Given the description of an element on the screen output the (x, y) to click on. 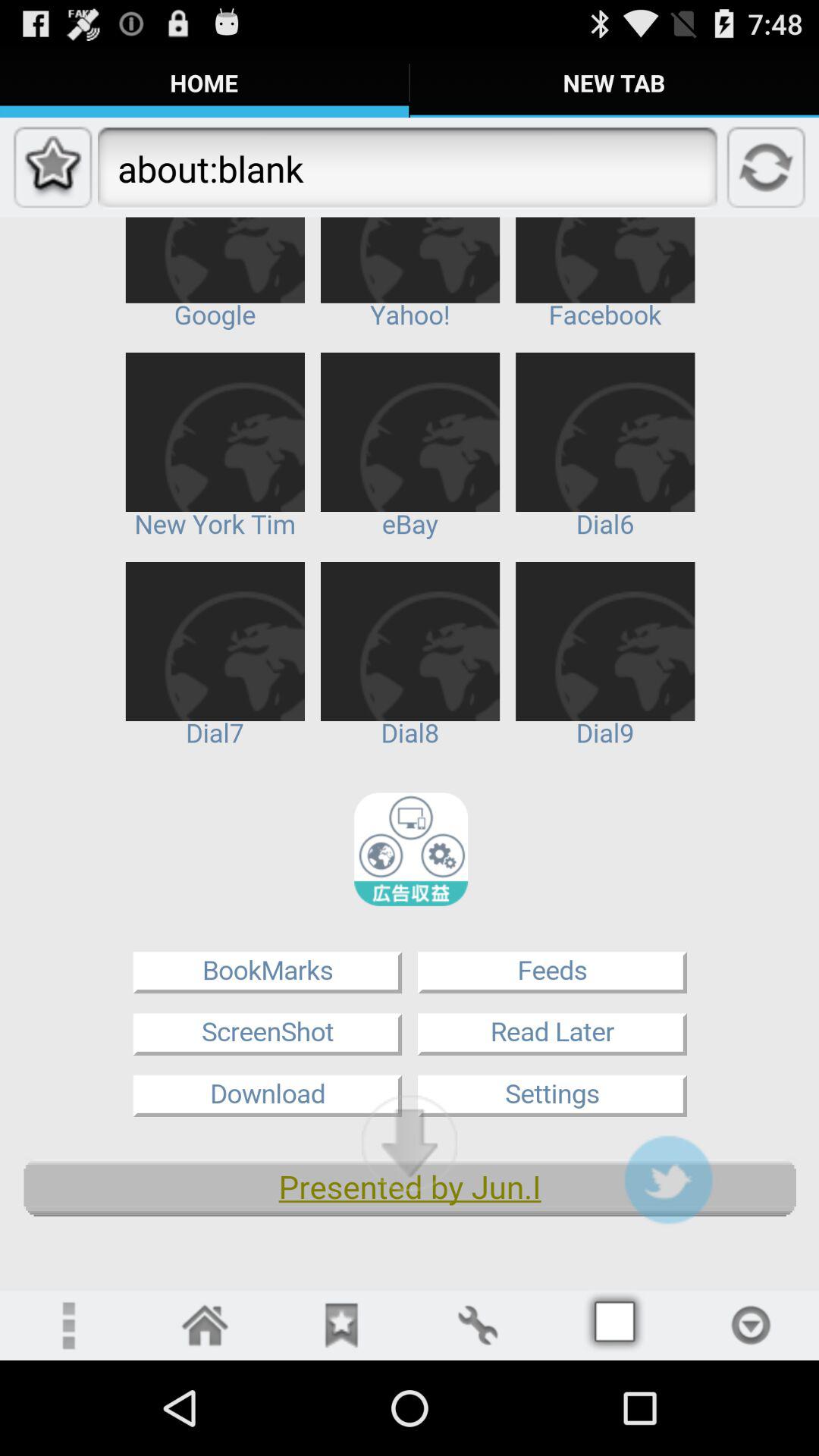
scroll down (409, 1142)
